Given the description of an element on the screen output the (x, y) to click on. 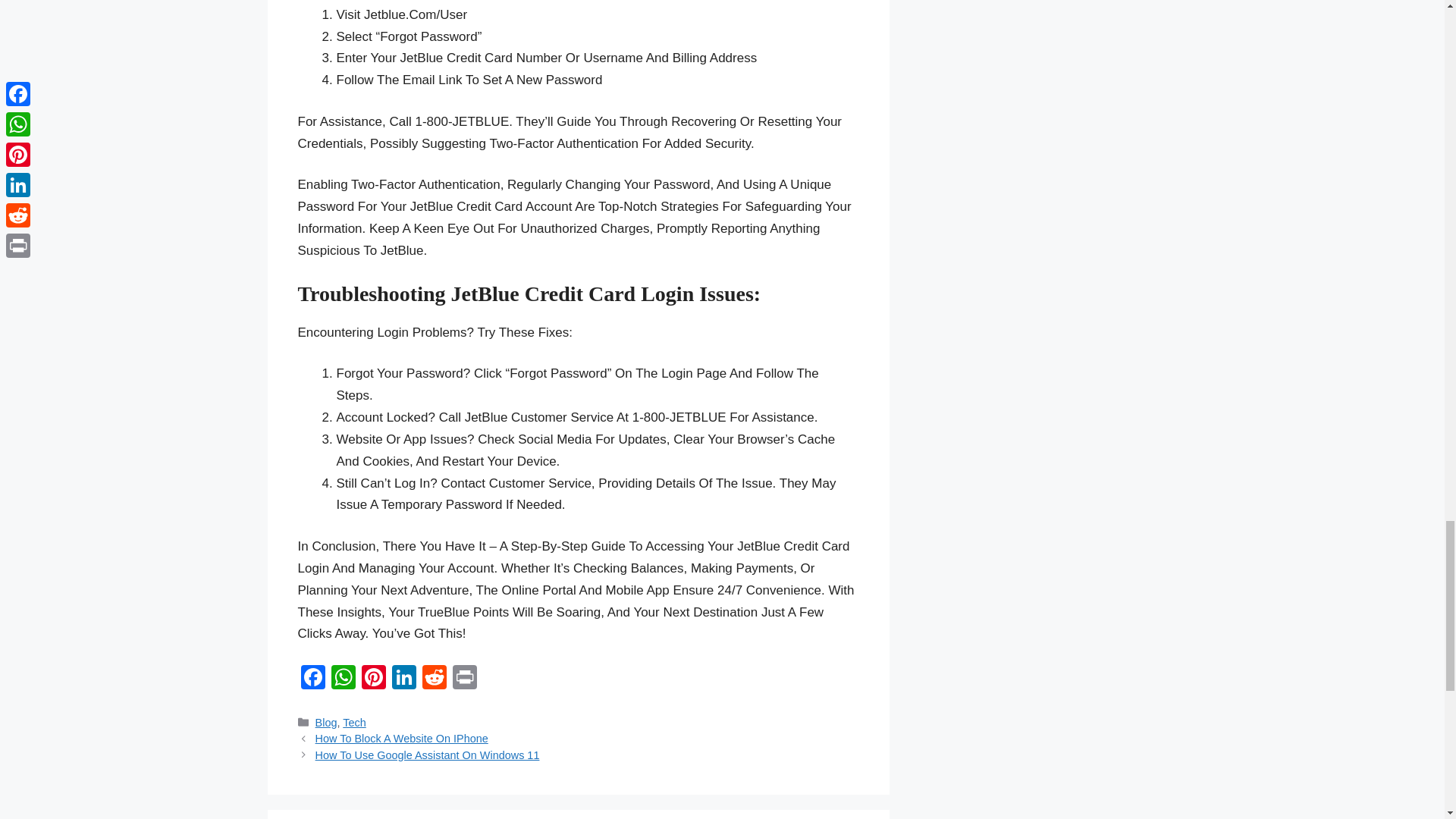
Facebook (312, 678)
Tech (354, 722)
LinkedIn (403, 678)
WhatsApp (342, 678)
Reddit (433, 678)
Pinterest (373, 678)
Print (463, 678)
LinkedIn (403, 678)
WhatsApp (342, 678)
How To Use Google Assistant On Windows 11 (427, 755)
Print (463, 678)
Facebook (312, 678)
Reddit (433, 678)
Pinterest (373, 678)
Blog (326, 722)
